Given the description of an element on the screen output the (x, y) to click on. 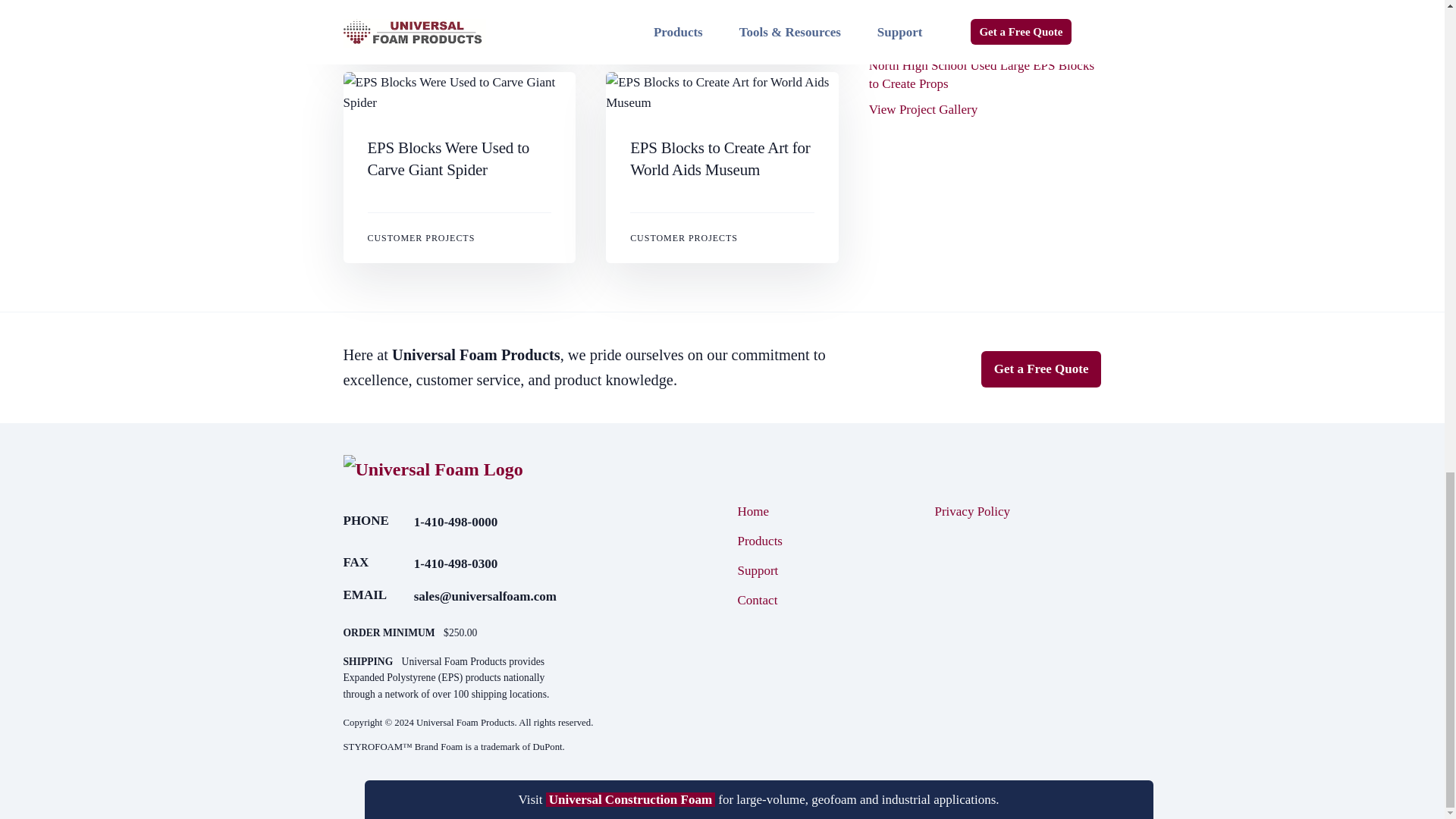
Universal Foam Logo (432, 469)
